Given the description of an element on the screen output the (x, y) to click on. 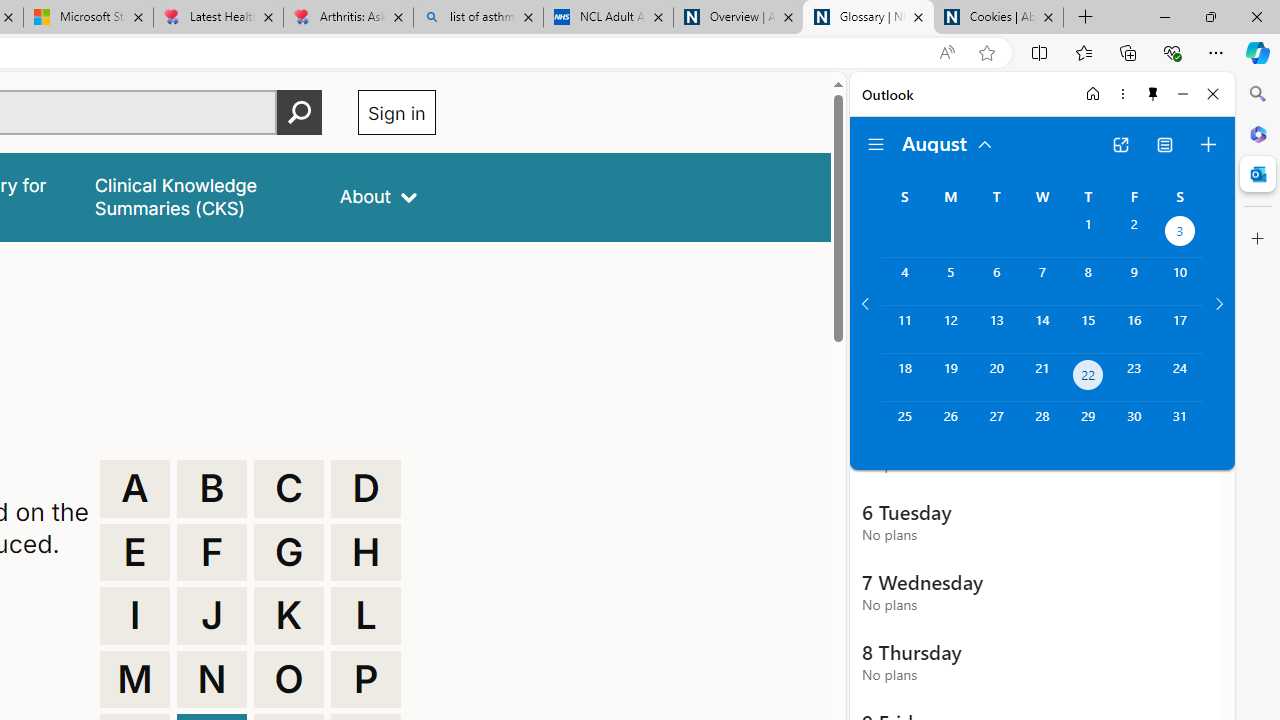
Microsoft Start (88, 17)
false (198, 196)
Sunday, August 25, 2024.  (904, 425)
Collections (1128, 52)
Cookies | About | NICE (998, 17)
Favorites (1083, 52)
Friday, August 9, 2024.  (1134, 281)
August (948, 141)
K (289, 615)
Wednesday, August 14, 2024.  (1042, 329)
O (289, 679)
About (378, 196)
Saturday, August 31, 2024.  (1180, 425)
